Given the description of an element on the screen output the (x, y) to click on. 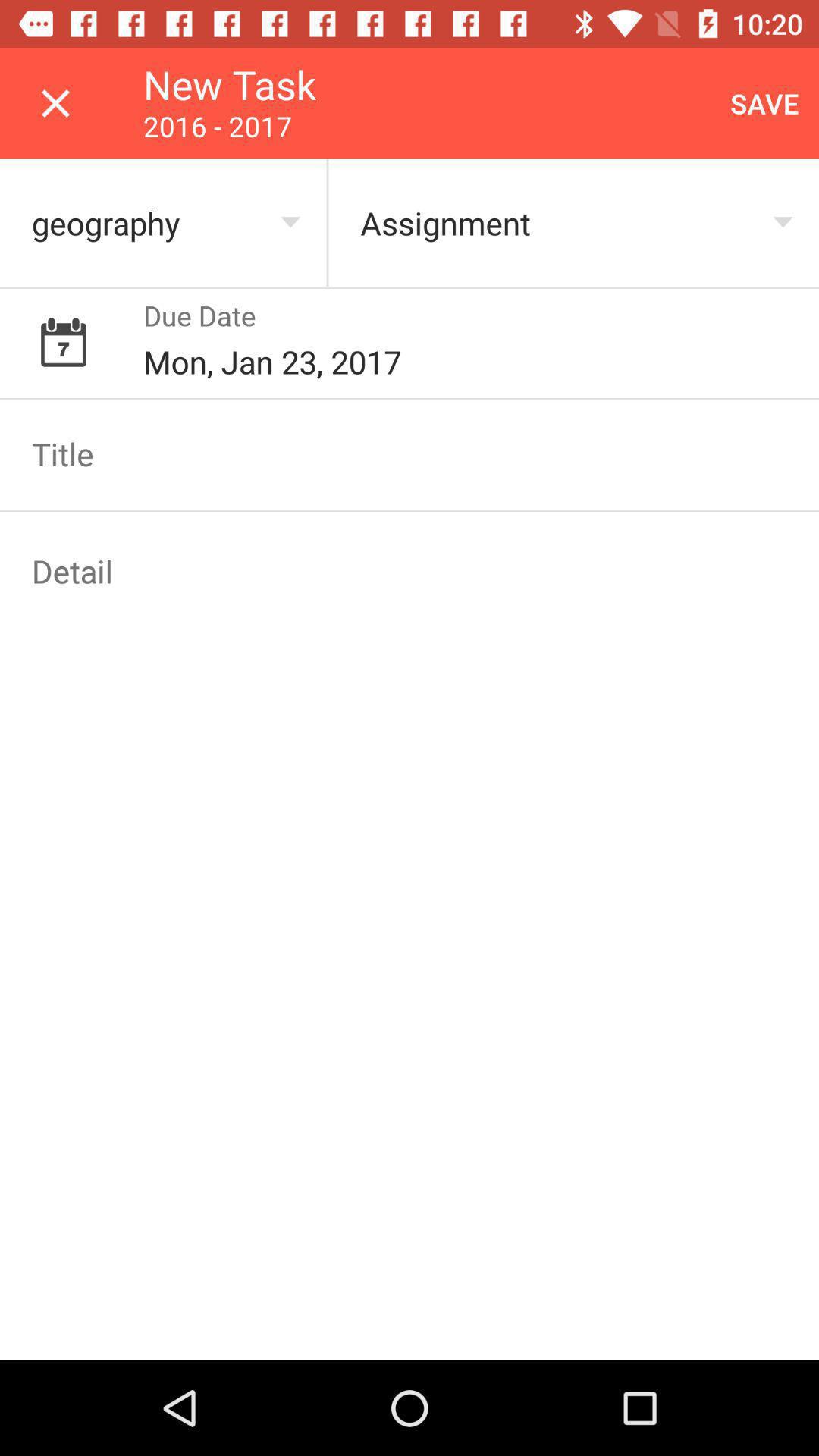
address (409, 570)
